Given the description of an element on the screen output the (x, y) to click on. 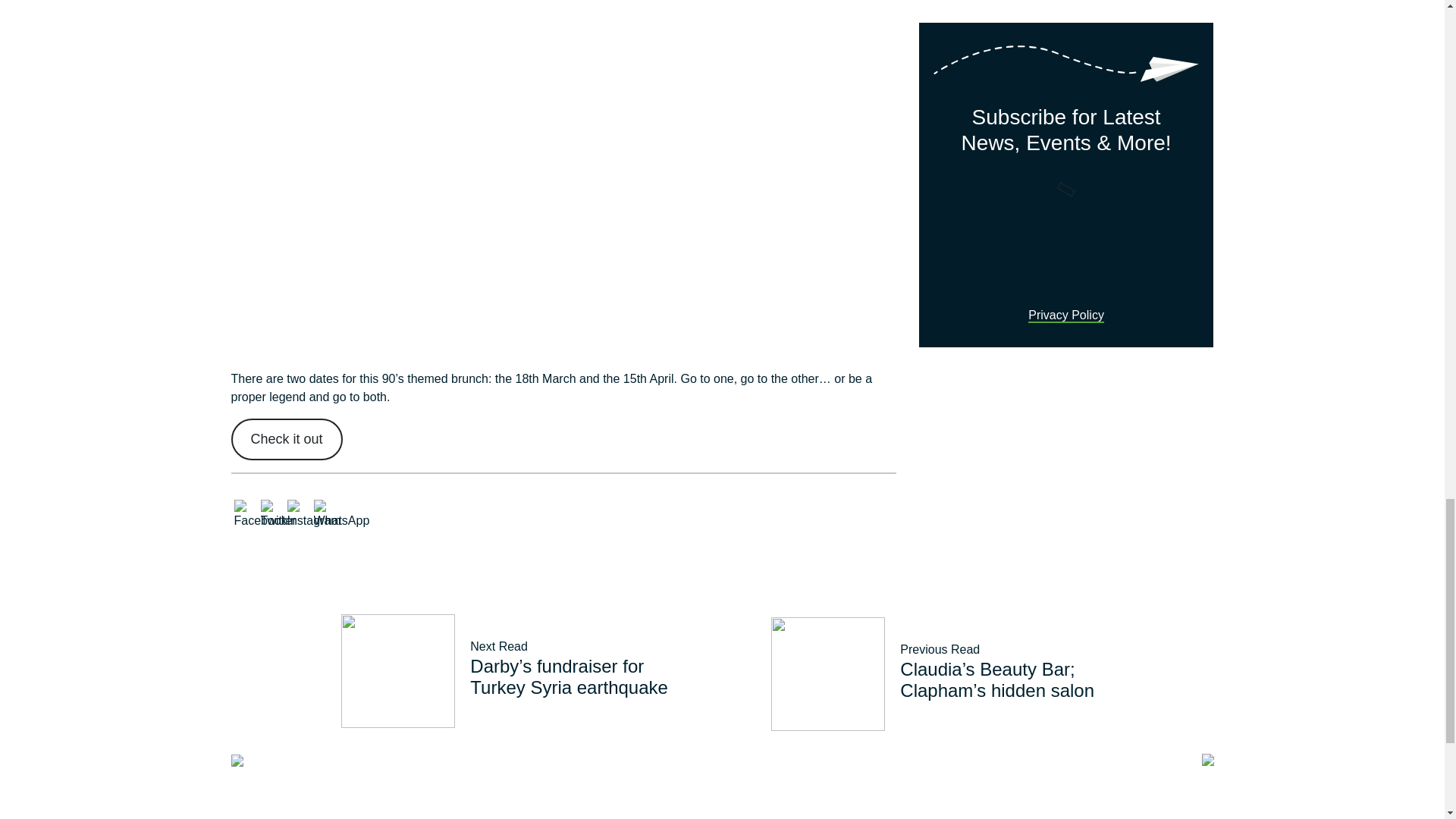
Next Read (498, 645)
Twitter (278, 514)
Facebook (259, 514)
Check it out (286, 439)
Instagram (313, 514)
Previous Read (939, 649)
WhatsApp (341, 514)
